Given the description of an element on the screen output the (x, y) to click on. 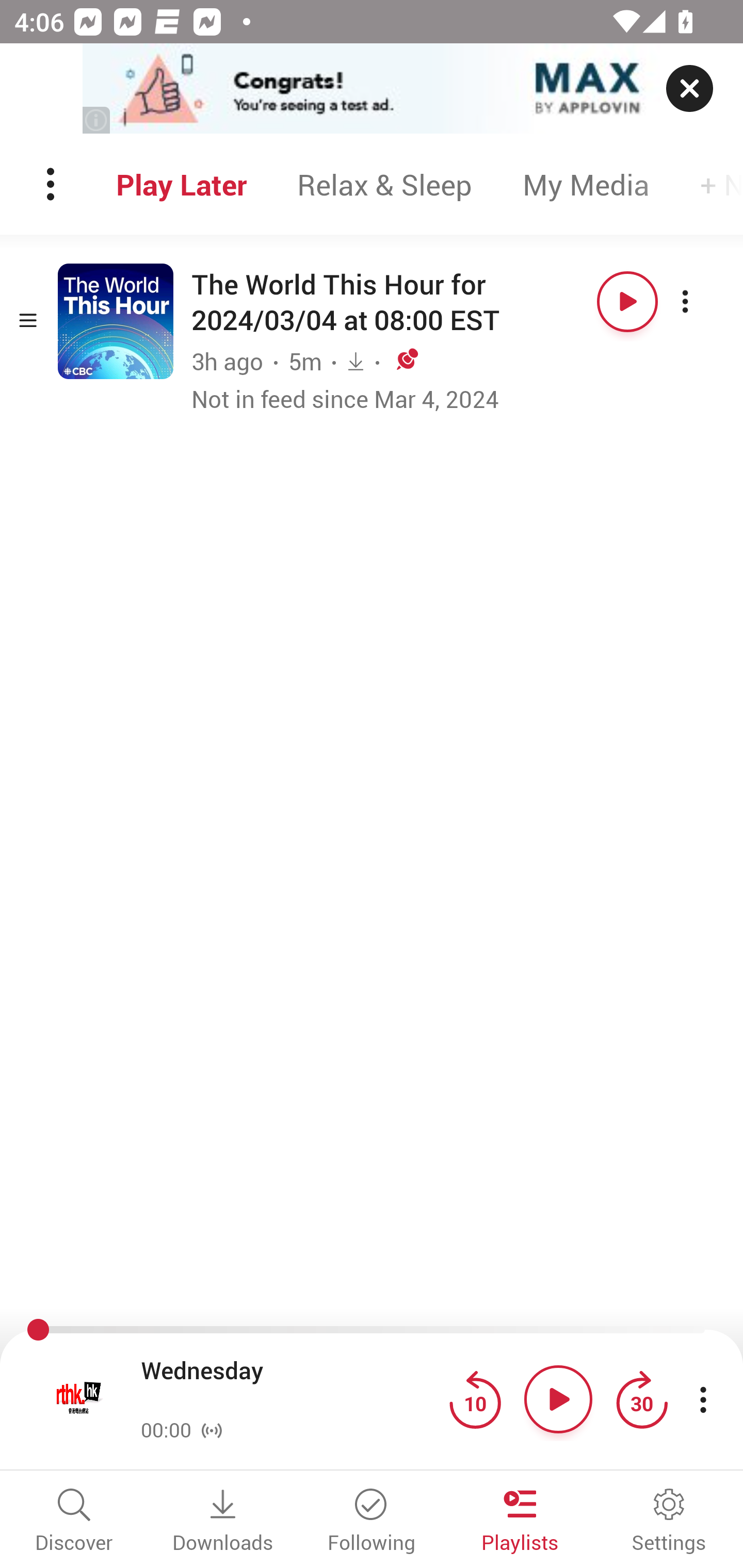
app-monetization (371, 88)
(i) (96, 119)
Menu (52, 184)
Play Later (180, 184)
Relax & Sleep (384, 184)
My Media (585, 184)
Play button (627, 301)
More options (703, 301)
Open series The World This Hour (115, 321)
Open fullscreen player (79, 1399)
More player controls (703, 1399)
Wednesday (290, 1385)
Play button (558, 1398)
Jump back (475, 1399)
Jump forward (641, 1399)
Discover (74, 1521)
Downloads (222, 1521)
Following (371, 1521)
Playlists (519, 1521)
Settings (668, 1521)
